Given the description of an element on the screen output the (x, y) to click on. 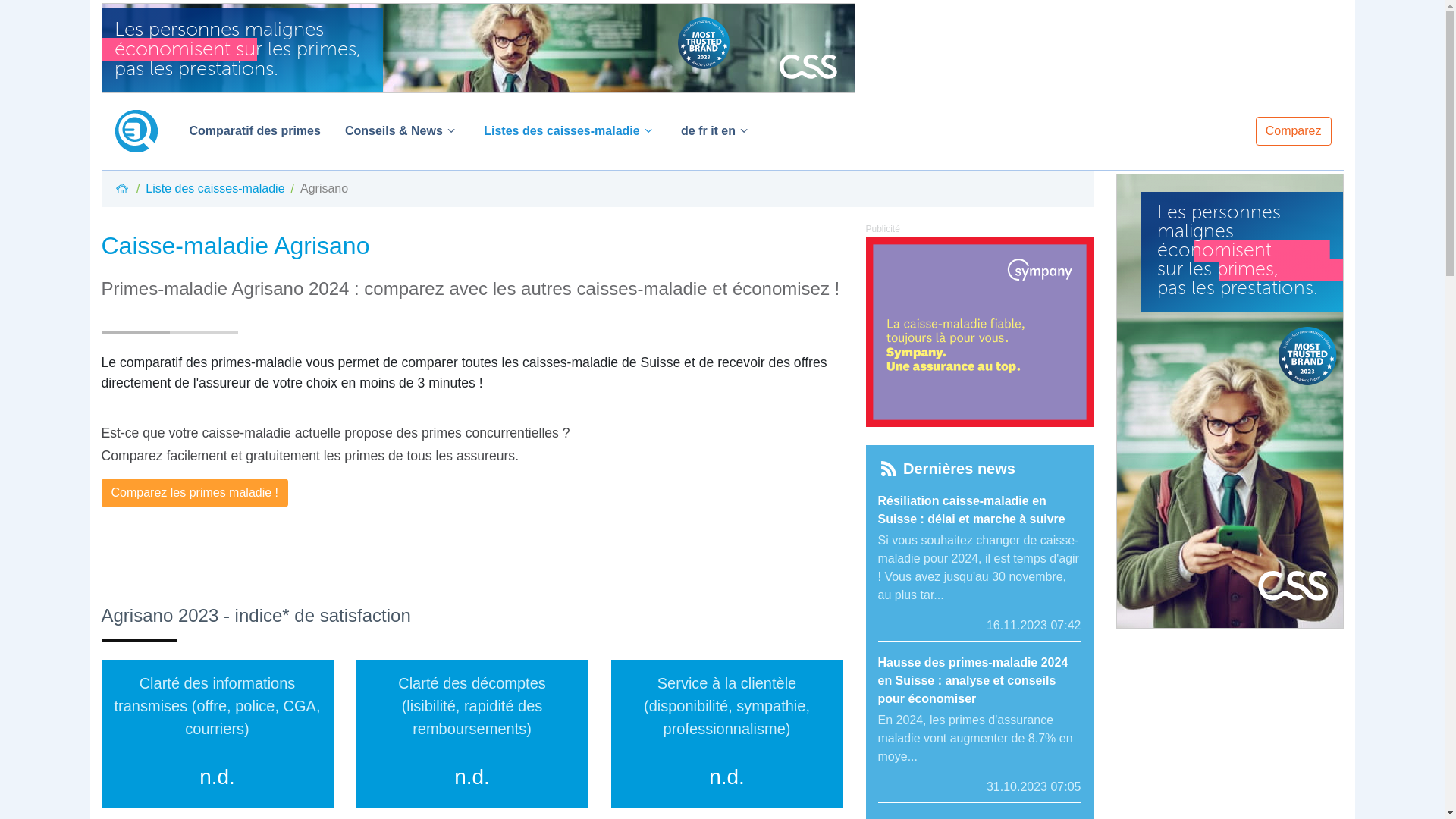
3rd party ad content Element type: hover (979, 331)
Comparez les primes maladie ! Element type: text (194, 492)
Comparatif des primes Element type: text (254, 131)
Comparez Element type: text (1293, 130)
Liste des caisses-maladie Element type: text (214, 188)
de fr it en Element type: text (716, 131)
Conseils & News Element type: text (401, 131)
Listes des caisses-maladie Element type: text (569, 131)
3rd party ad content Element type: hover (478, 47)
3rd party ad content Element type: hover (1229, 400)
